Given the description of an element on the screen output the (x, y) to click on. 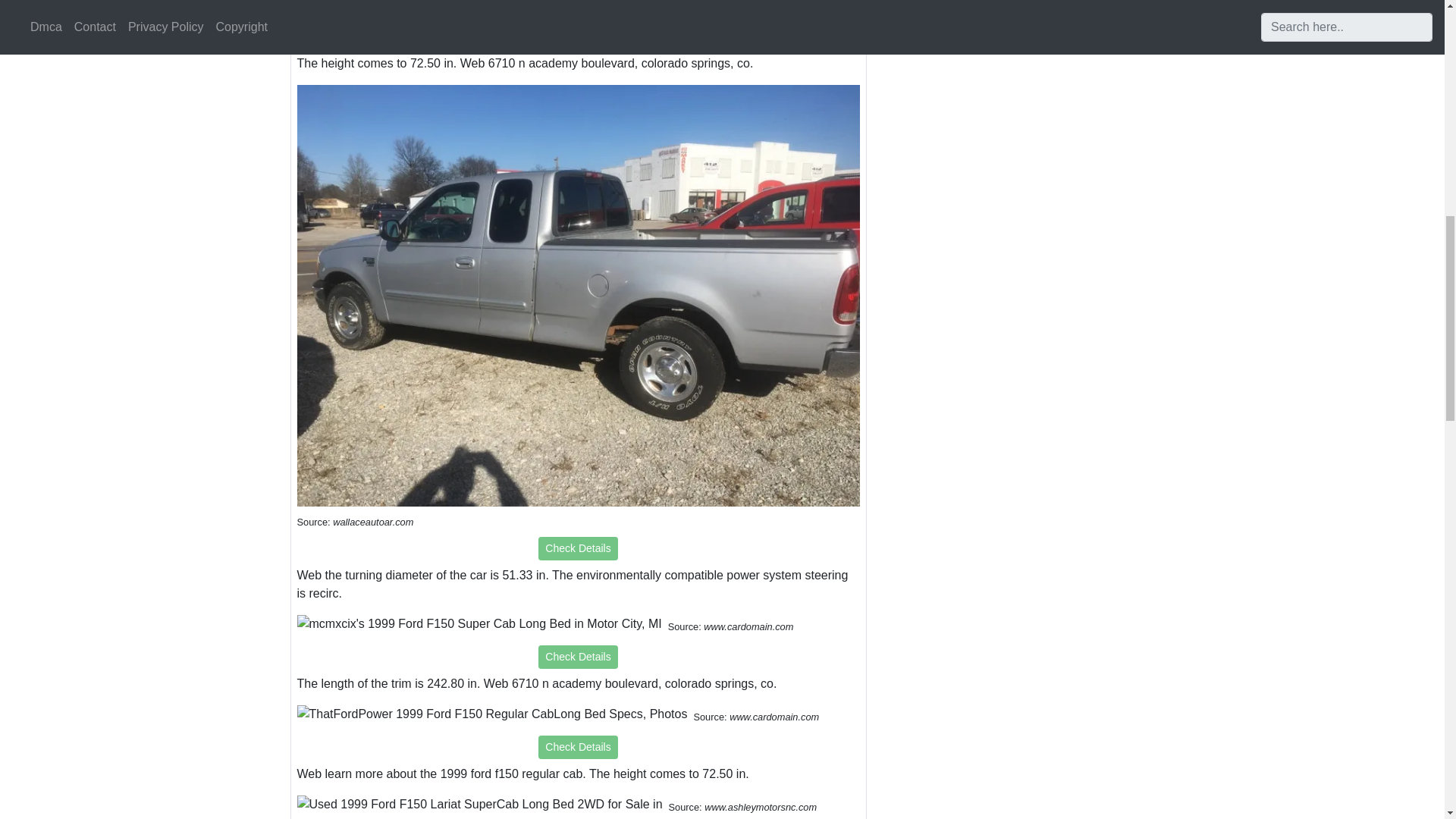
Check Details (577, 35)
Check Details (577, 548)
Check Details (577, 747)
Check Details (577, 657)
